Given the description of an element on the screen output the (x, y) to click on. 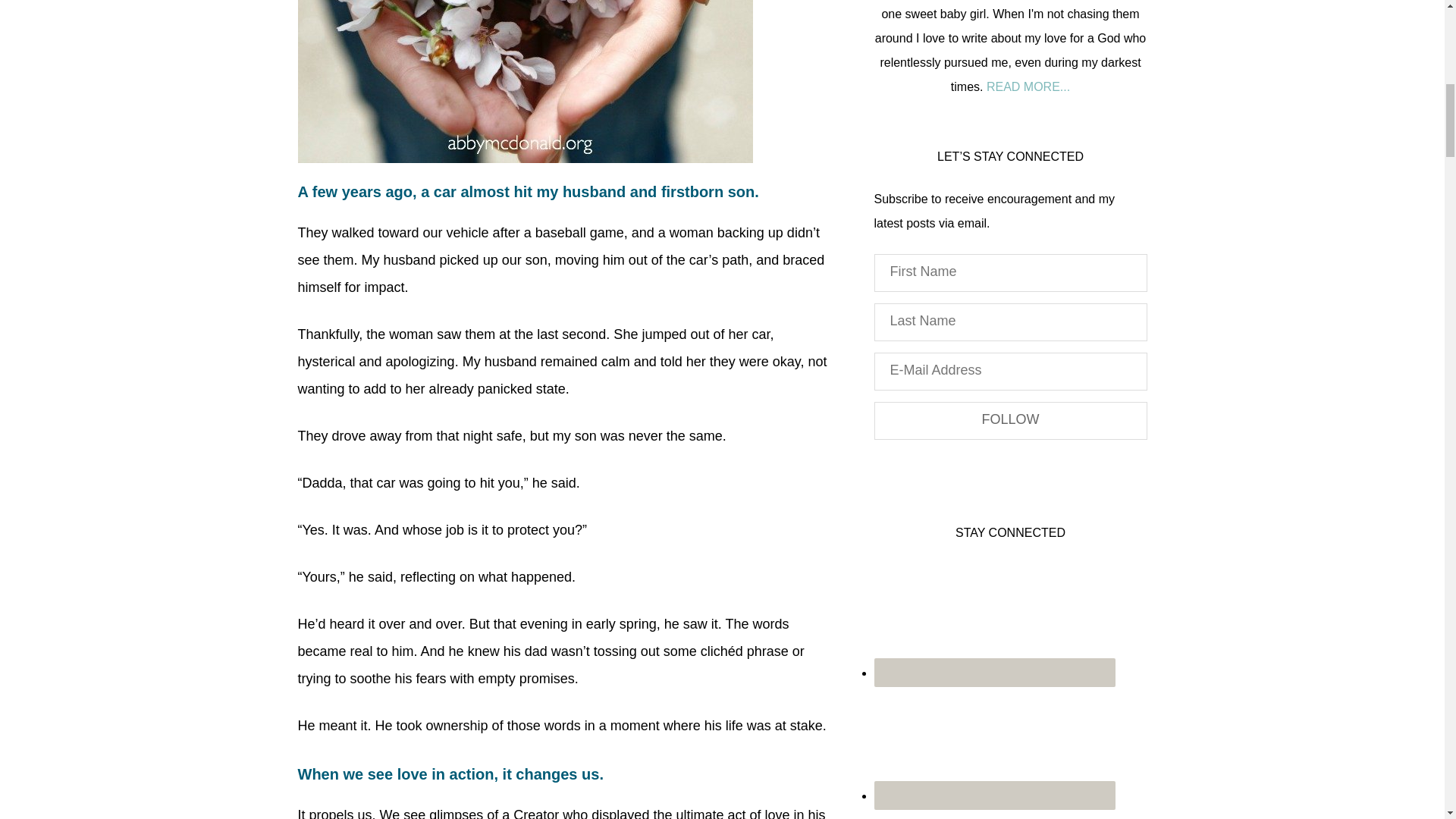
Email (994, 672)
Privacy Policy (904, 463)
Email (994, 620)
Facebook (994, 743)
READ MORE... (1028, 86)
FOLLOW (1010, 420)
Facebook (994, 795)
Instagram (994, 814)
FOLLOW (1010, 420)
